Given the description of an element on the screen output the (x, y) to click on. 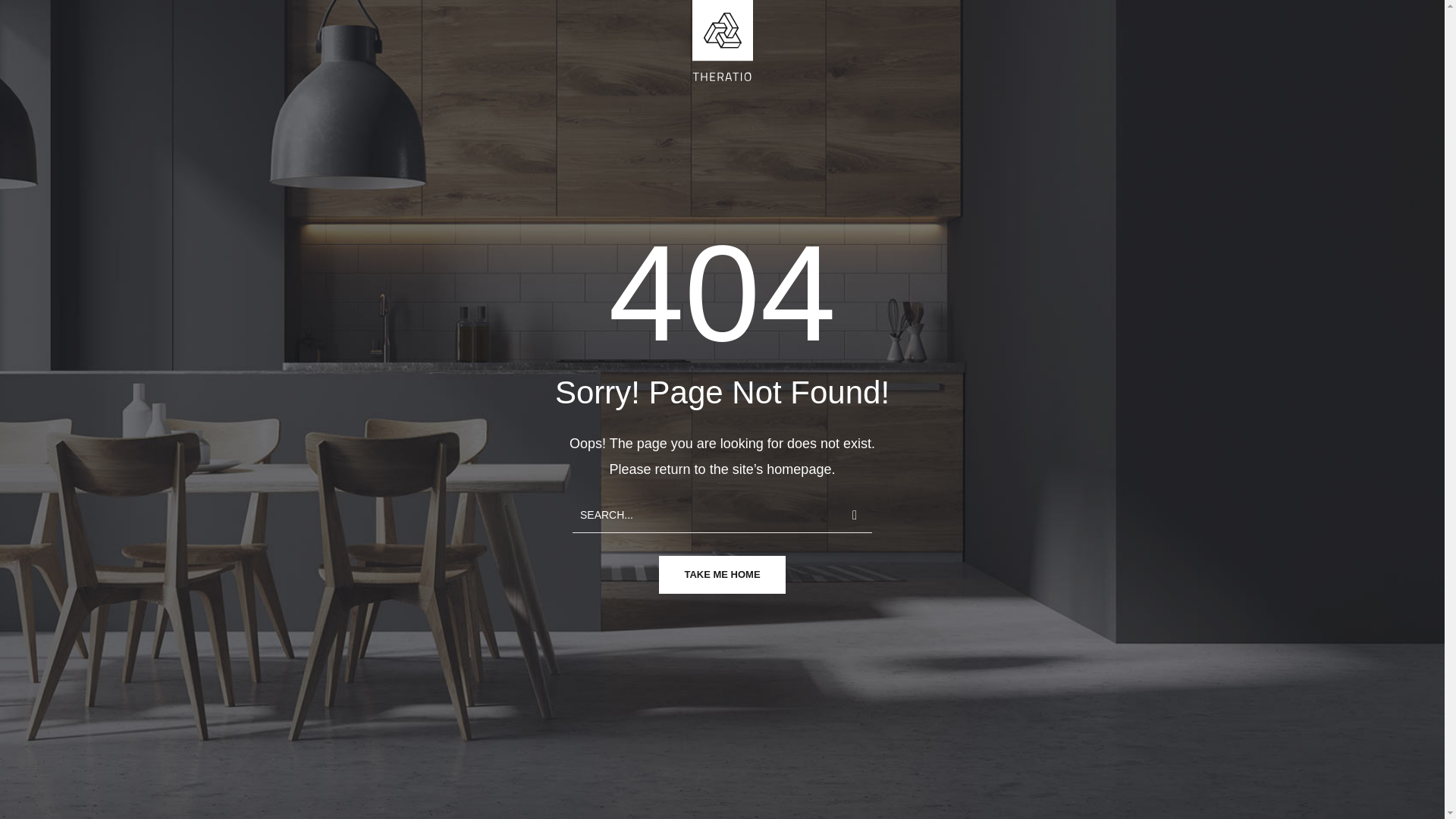
TAKE ME HOME (721, 574)
